Given the description of an element on the screen output the (x, y) to click on. 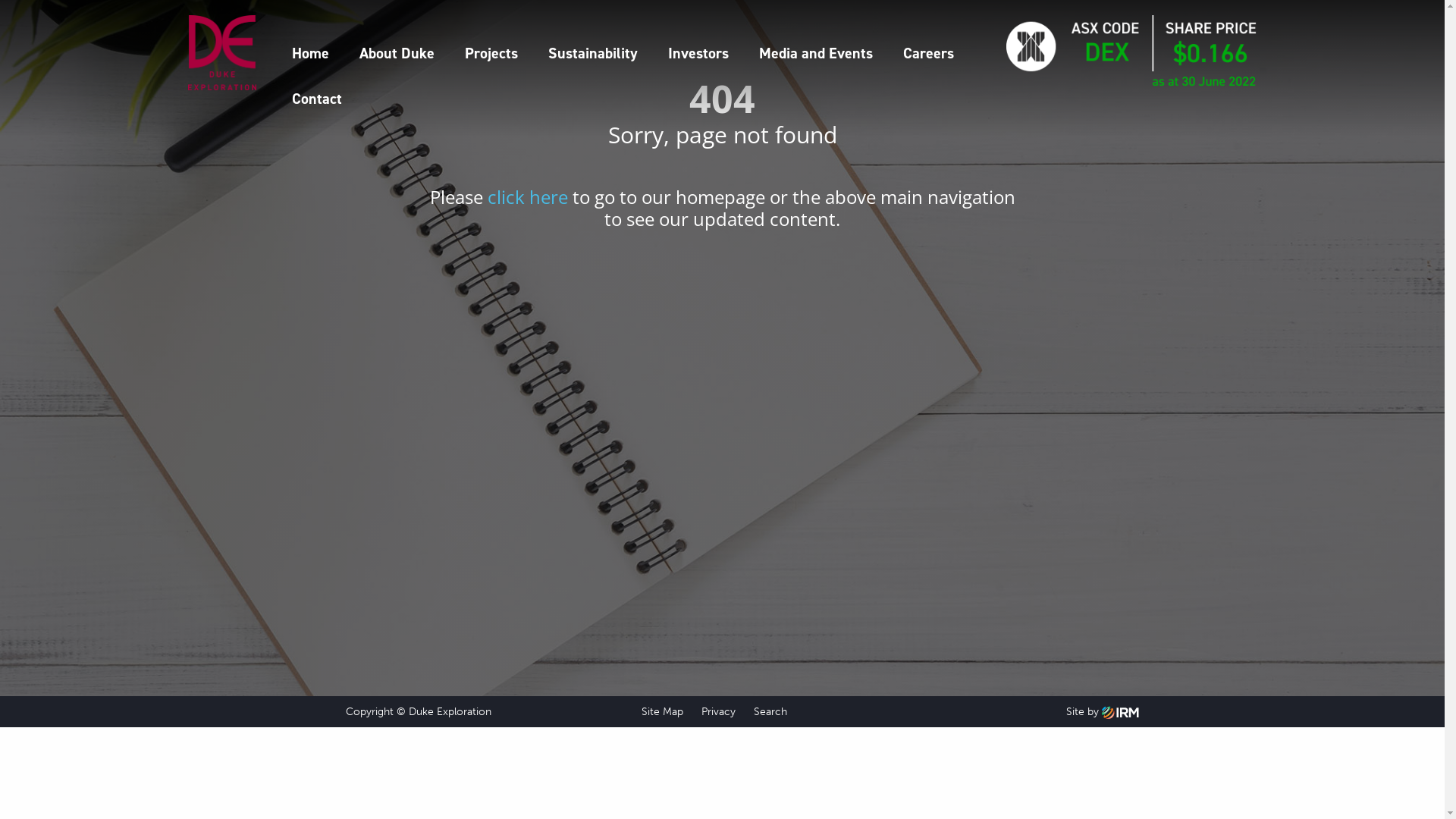
Projects Element type: text (491, 52)
click here Element type: text (526, 196)
Home Element type: text (310, 52)
Contact Element type: text (316, 98)
Search Element type: text (773, 711)
Careers Element type: text (928, 52)
Site by Element type: text (1102, 711)
Privacy Element type: text (722, 711)
About Duke Element type: text (396, 52)
Investors Element type: text (698, 52)
Media and Events Element type: text (815, 52)
Sustainability Element type: text (592, 52)
Site Map Element type: text (665, 711)
